Given the description of an element on the screen output the (x, y) to click on. 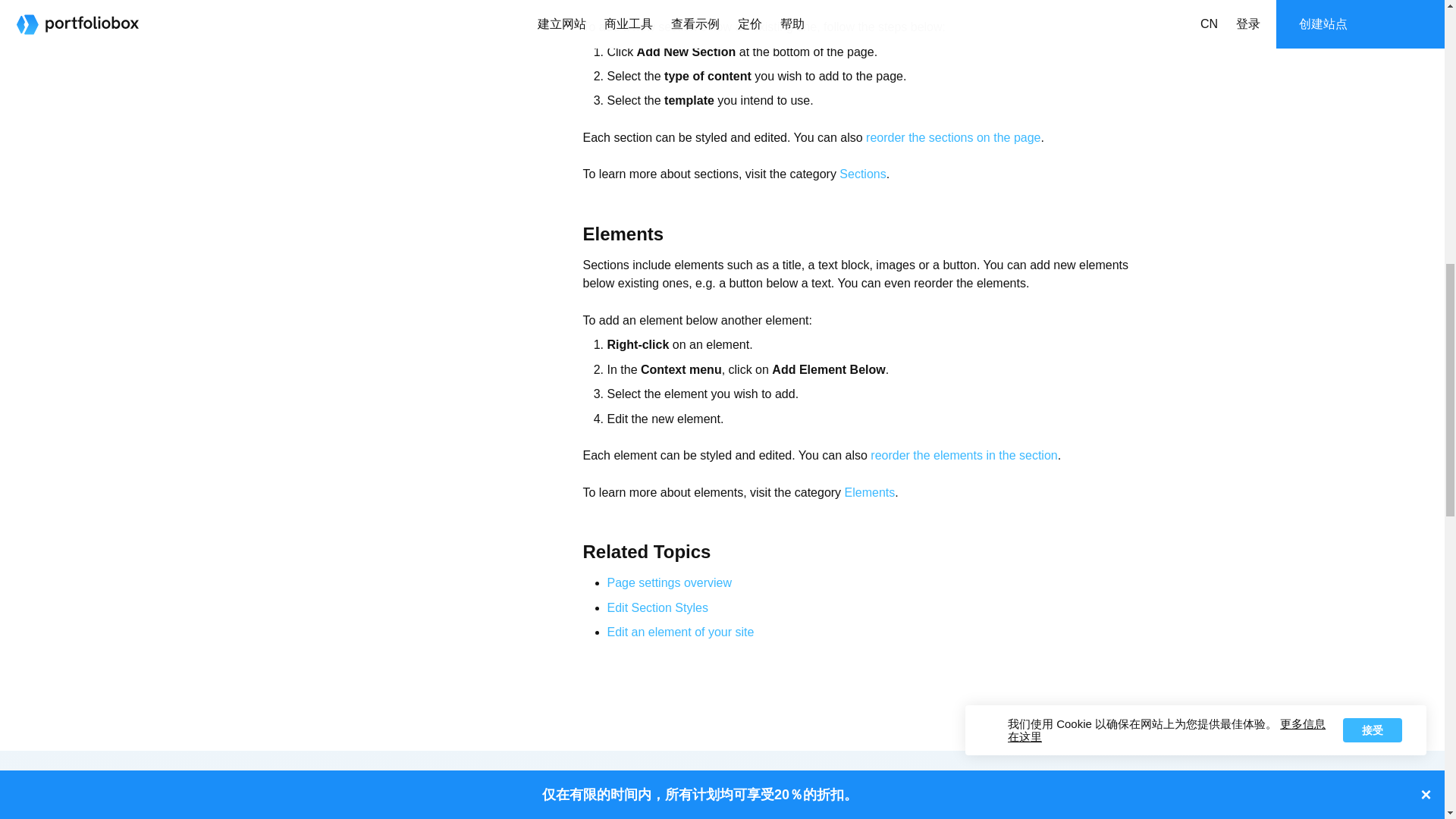
Sections (862, 173)
Reorder elements (963, 454)
Elements (869, 492)
Reorder sections (953, 137)
